Given the description of an element on the screen output the (x, y) to click on. 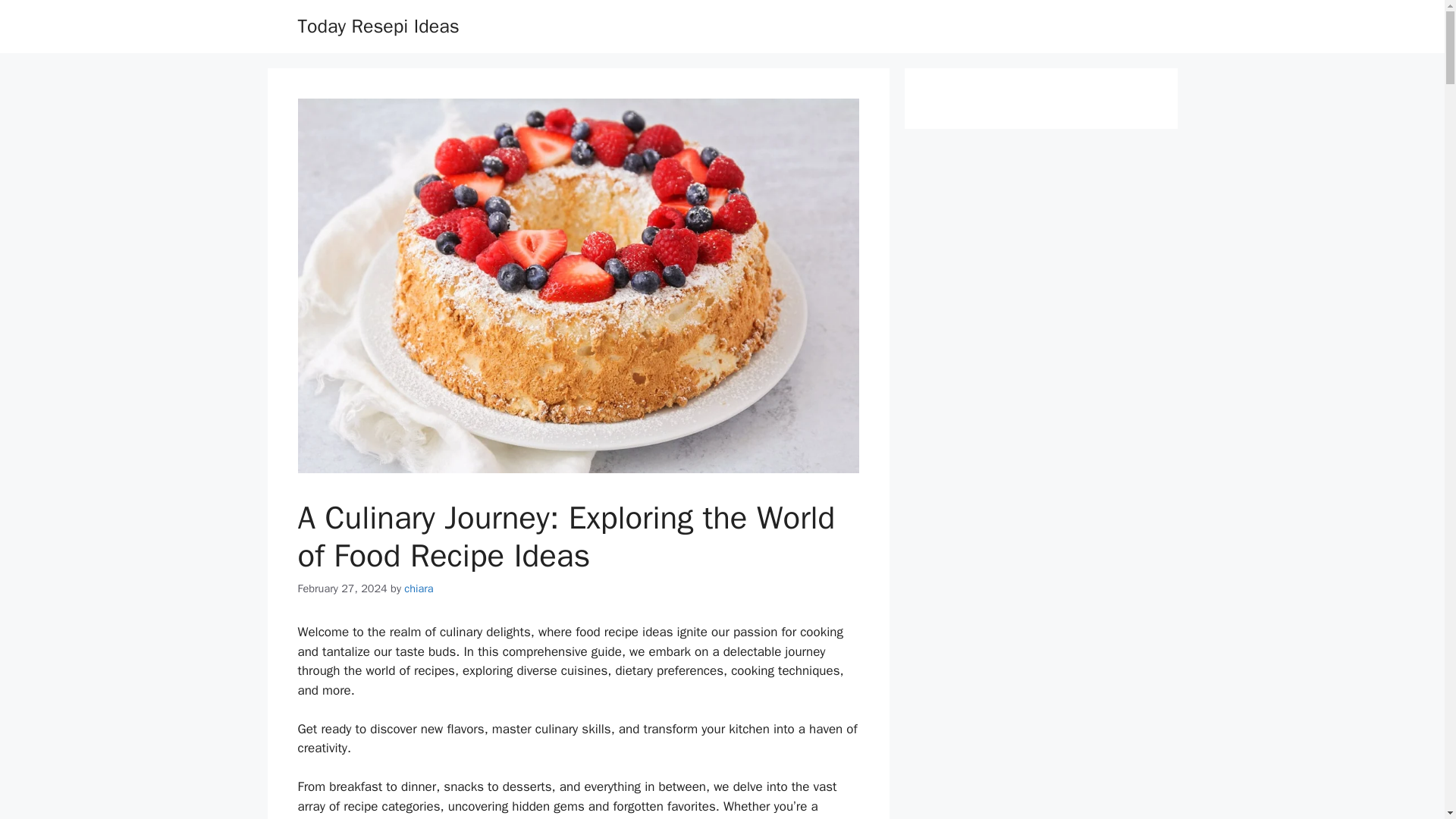
View all posts by chiara (418, 588)
Today Resepi Ideas (377, 25)
chiara (418, 588)
